Given the description of an element on the screen output the (x, y) to click on. 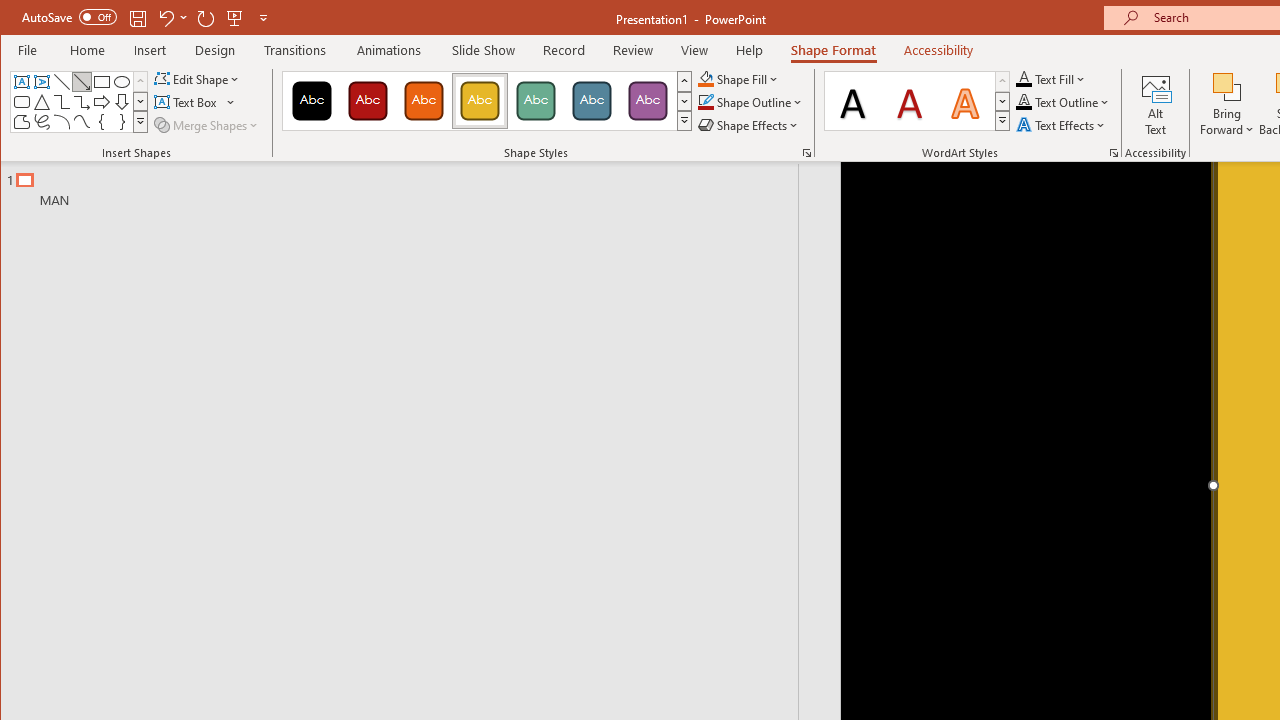
Fill: Black, Text color 1; Shadow (853, 100)
Colored Fill - Green, Accent 4 (536, 100)
Freeform: Shape (21, 121)
Connector: Elbow Arrow (81, 102)
Alt Text (1156, 104)
Shape Outline (750, 101)
Bring Forward (1227, 86)
Merge Shapes (207, 124)
Rectangle: Rounded Corners (21, 102)
Text Outline (1062, 101)
Shape Format (833, 50)
